Given the description of an element on the screen output the (x, y) to click on. 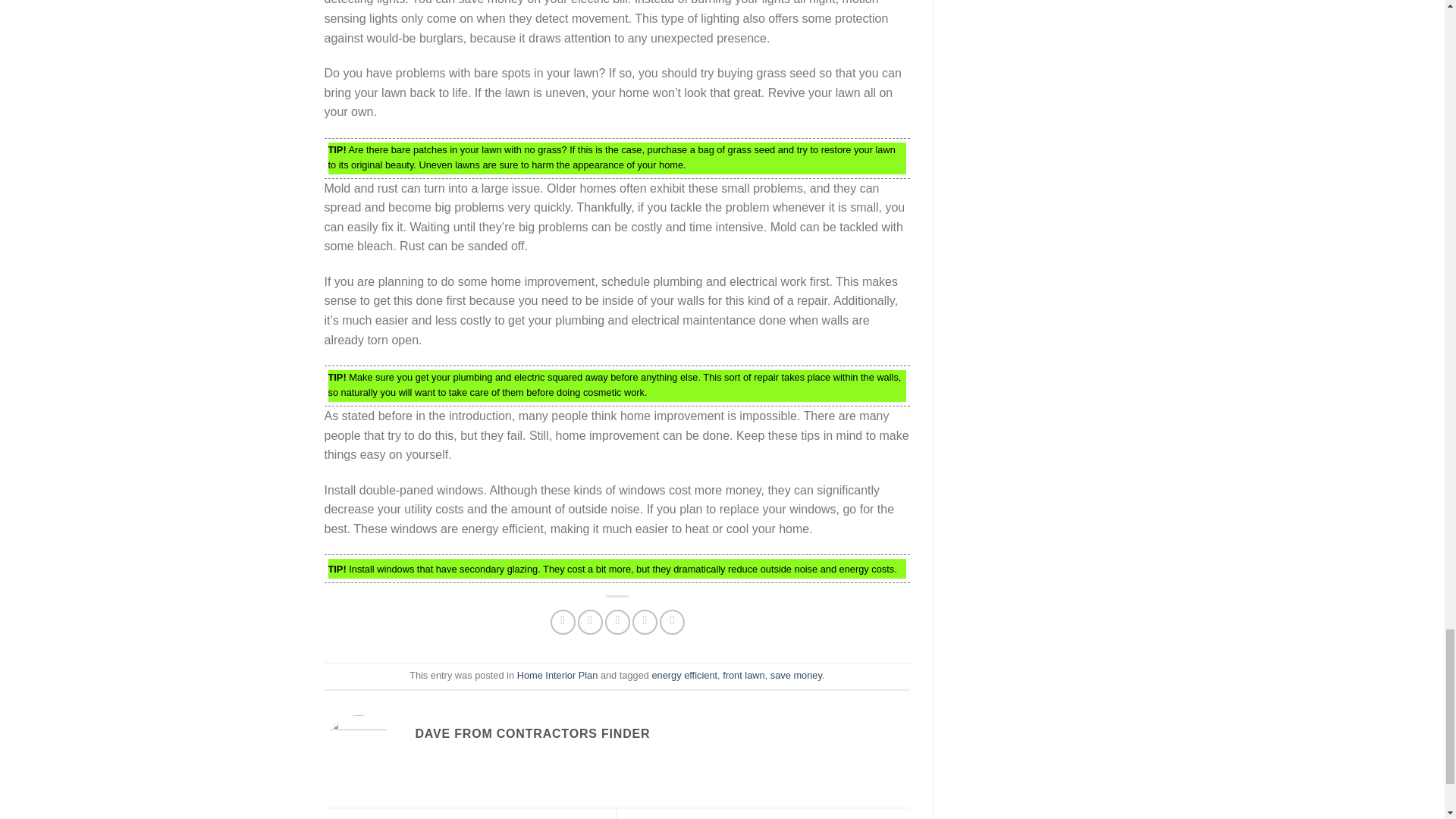
energy efficient (684, 674)
save money (796, 674)
Email to a Friend (617, 621)
Share on LinkedIn (671, 621)
Share on Twitter (590, 621)
Share on Facebook (562, 621)
Pin on Pinterest (644, 621)
front lawn (743, 674)
Home Interior Plan (557, 674)
